Given the description of an element on the screen output the (x, y) to click on. 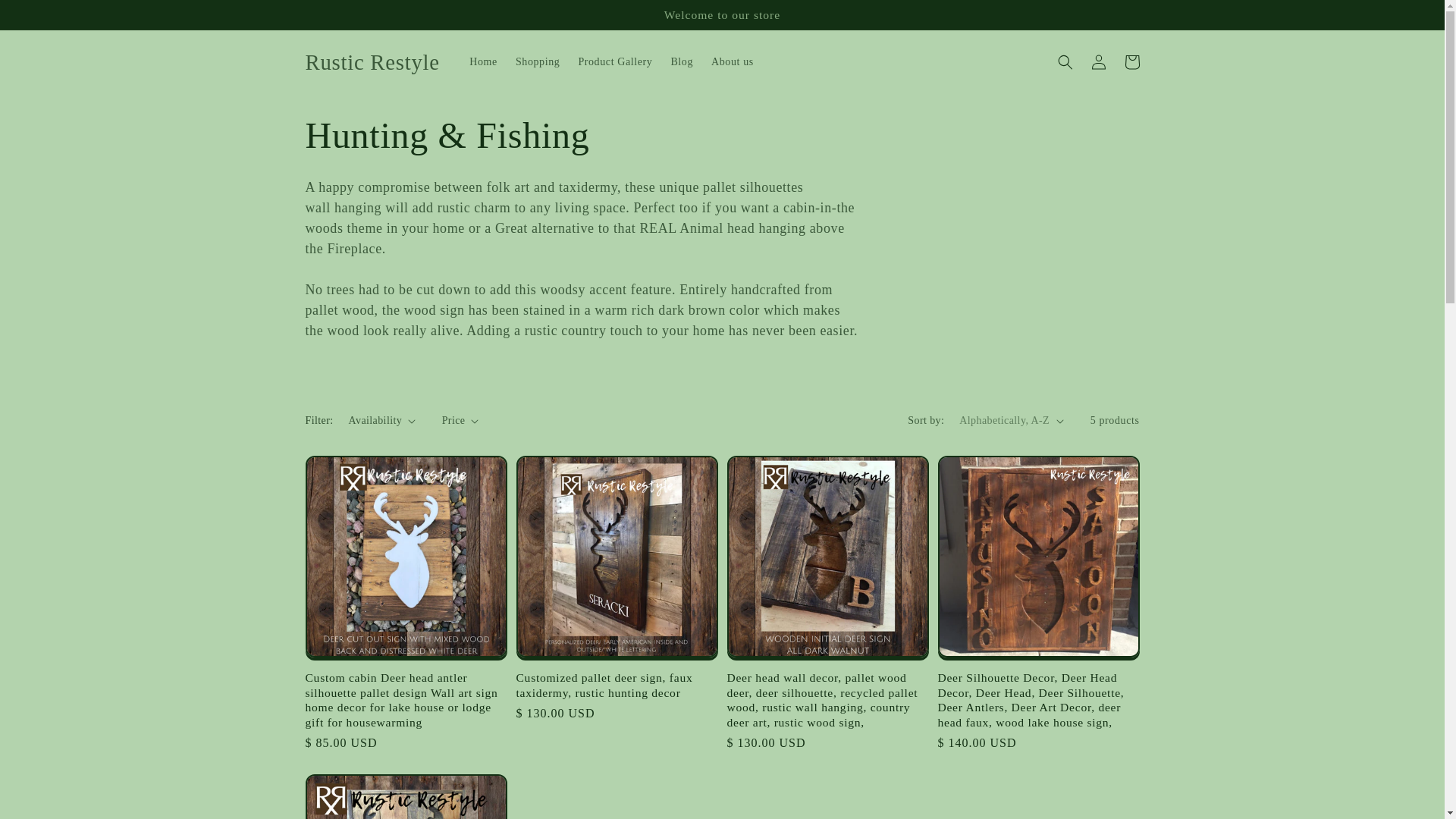
Blog (681, 61)
Skip to content (46, 18)
Log in (1098, 61)
Shopping (537, 61)
Cart (1131, 61)
Rustic Restyle (372, 62)
Product Gallery (615, 61)
About us (731, 61)
